Given the description of an element on the screen output the (x, y) to click on. 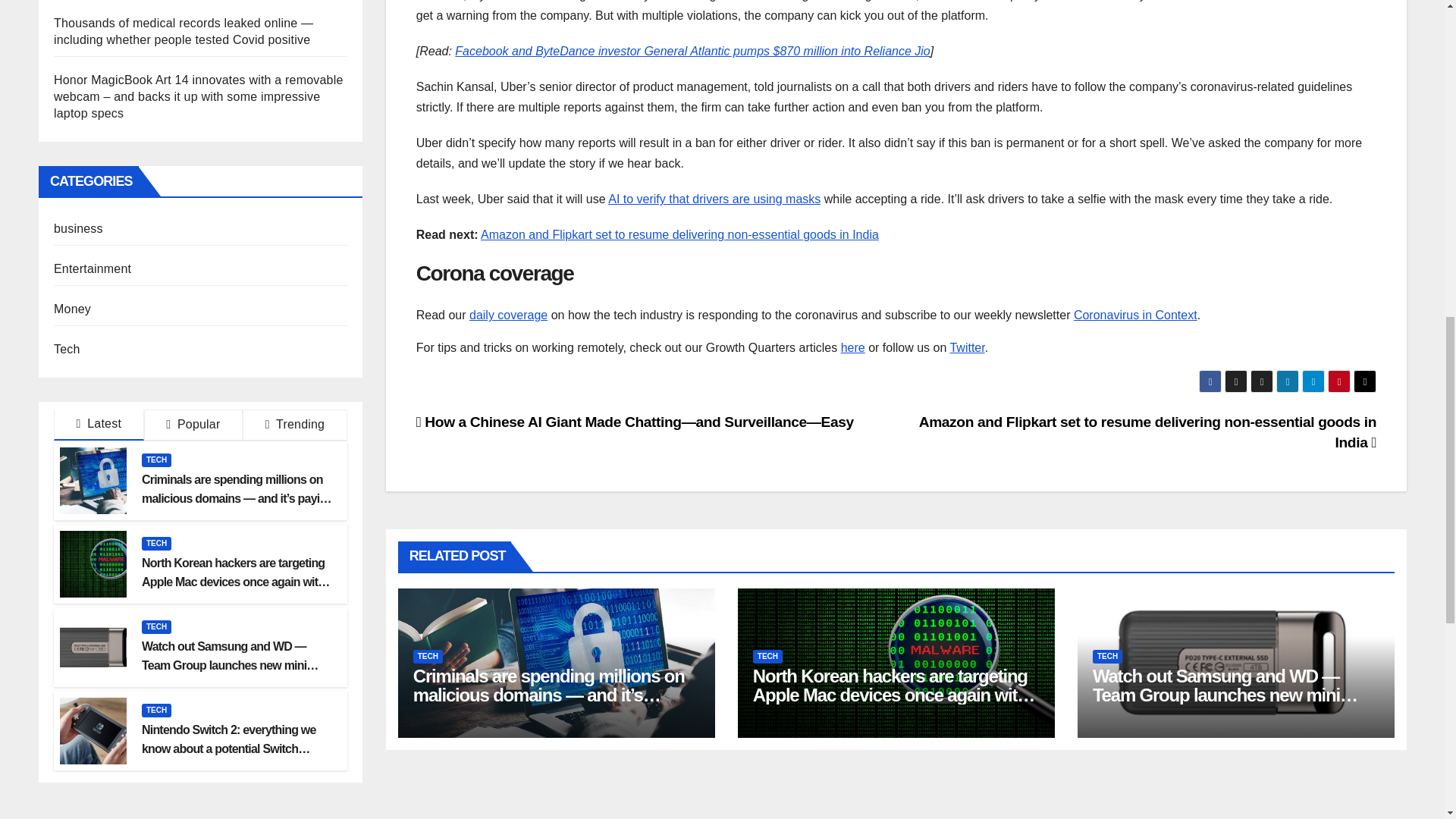
Popular (193, 425)
business (78, 228)
TECH (156, 543)
Trending (295, 425)
Tech (66, 349)
TECH (156, 459)
Money (71, 308)
Latest (98, 424)
Entertainment (92, 268)
